Given the description of an element on the screen output the (x, y) to click on. 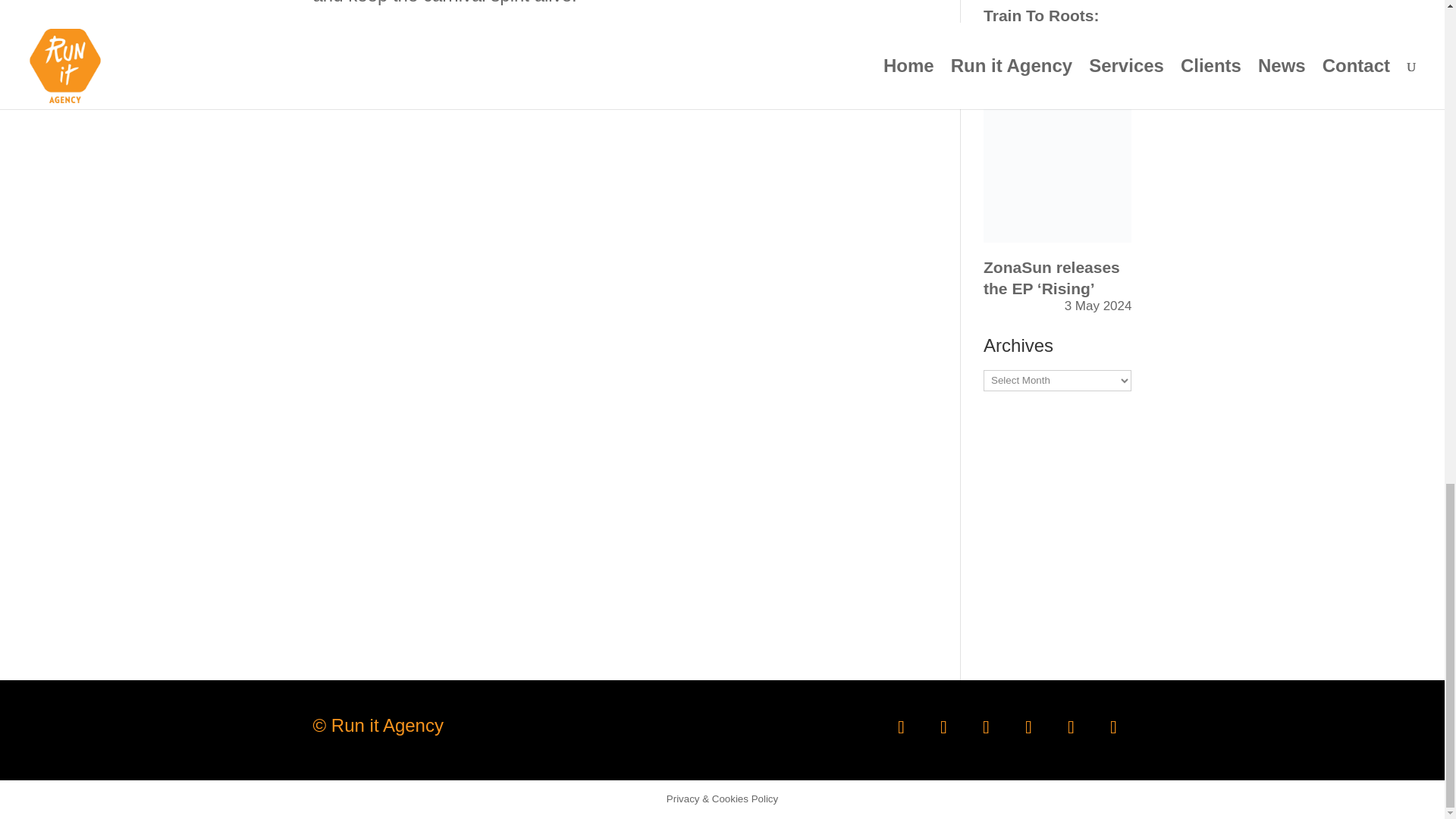
Follow on Youtube (1070, 727)
Follow on Instagram (986, 727)
Follow on RSS (1112, 727)
Follow on Facebook (900, 727)
streaming platforms (392, 75)
Follow on X (942, 727)
Follow on Spotify (1028, 727)
